Given the description of an element on the screen output the (x, y) to click on. 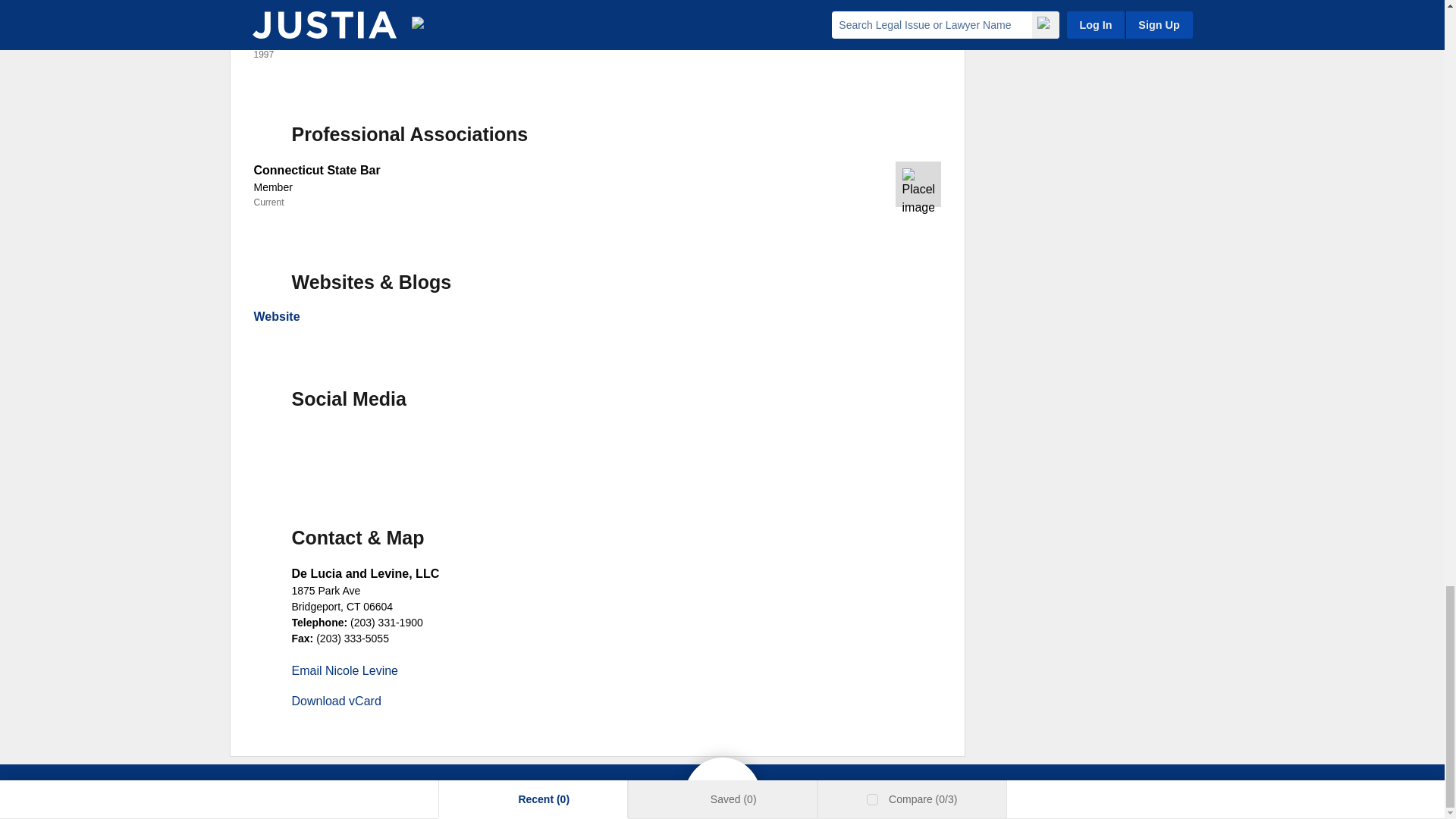
Facebook (275, 448)
Website (276, 316)
Email Nicole Levine (344, 670)
 Justia Profile (328, 448)
Justia Profile (328, 448)
Nicole Levine on Facebook (275, 448)
Download vCard (335, 700)
